Given the description of an element on the screen output the (x, y) to click on. 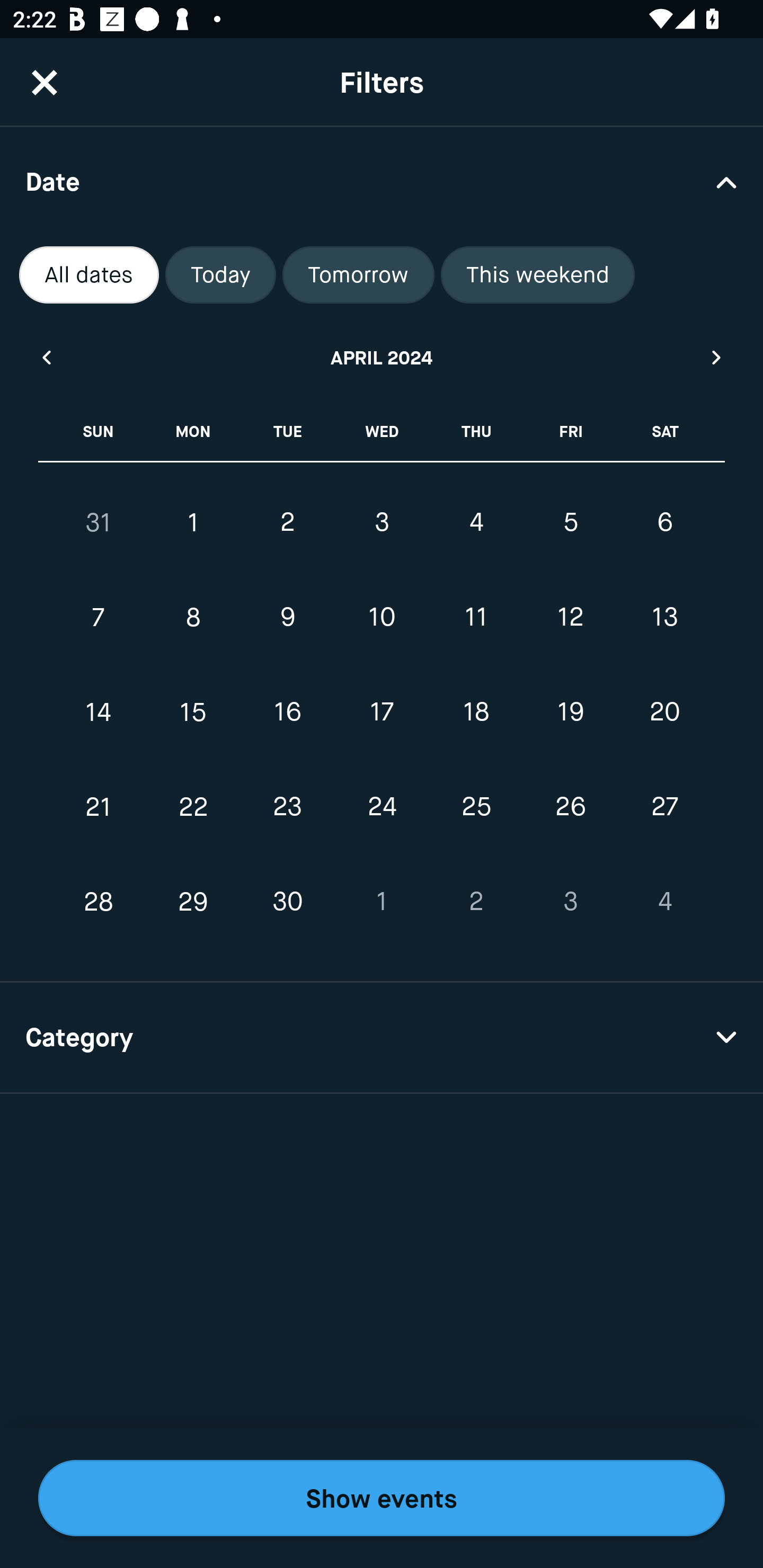
CloseButton (44, 82)
Date Drop Down Arrow (381, 181)
All dates (88, 274)
Today (220, 274)
Tomorrow (358, 274)
This weekend (537, 274)
Previous (45, 357)
Next (717, 357)
31 (98, 522)
1 (192, 522)
2 (287, 522)
3 (381, 522)
4 (475, 522)
5 (570, 522)
6 (664, 522)
7 (98, 617)
8 (192, 617)
9 (287, 617)
10 (381, 617)
11 (475, 617)
12 (570, 617)
13 (664, 617)
14 (98, 711)
15 (192, 711)
16 (287, 711)
17 (381, 711)
18 (475, 711)
19 (570, 711)
20 (664, 711)
21 (98, 806)
22 (192, 806)
23 (287, 806)
24 (381, 806)
25 (475, 806)
26 (570, 806)
27 (664, 806)
28 (98, 901)
29 (192, 901)
30 (287, 901)
1 (381, 901)
2 (475, 901)
3 (570, 901)
4 (664, 901)
Category Drop Down Arrow (381, 1038)
Show events (381, 1497)
